Given the description of an element on the screen output the (x, y) to click on. 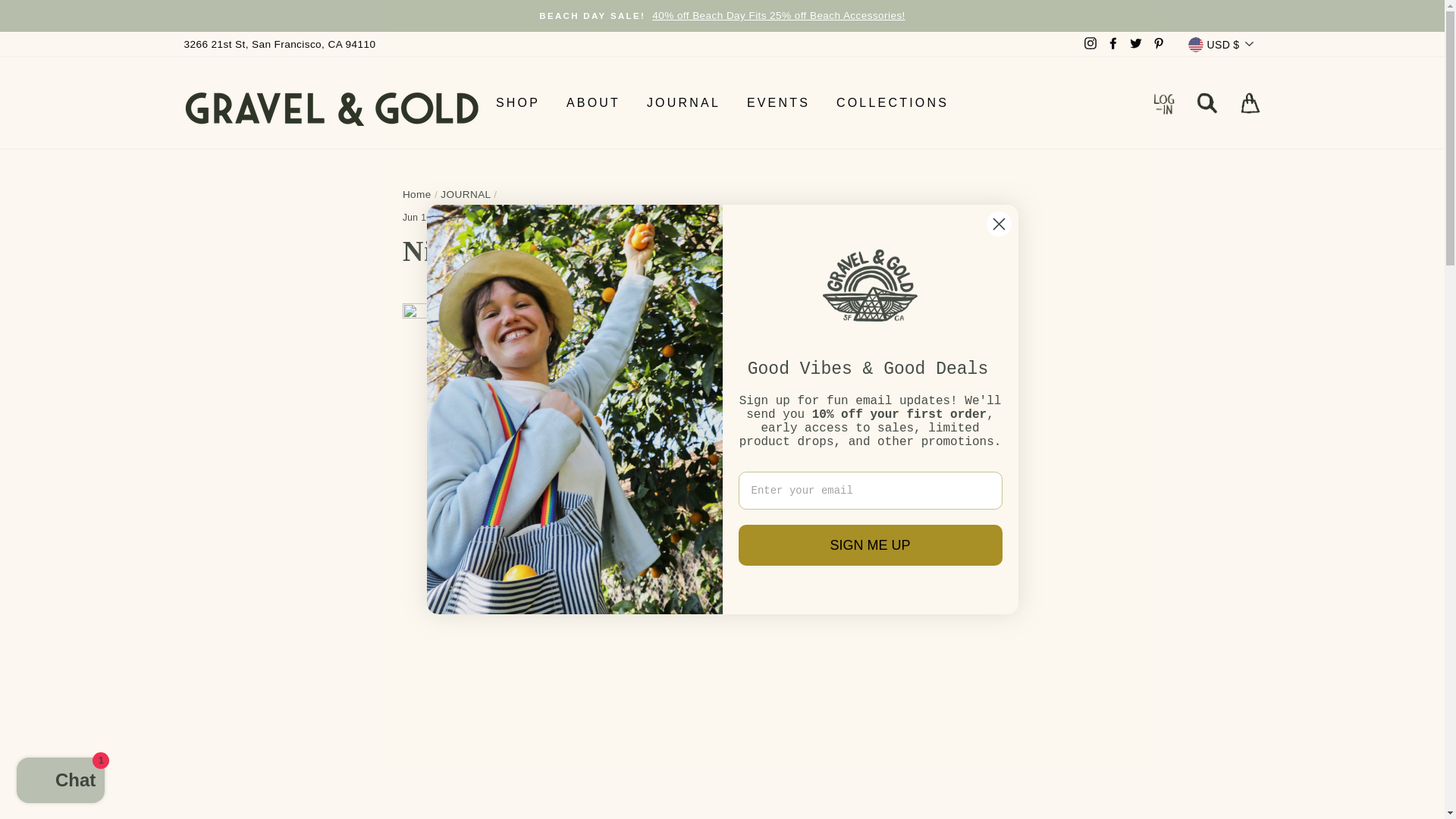
Back to the frontpage (416, 194)
